Given the description of an element on the screen output the (x, y) to click on. 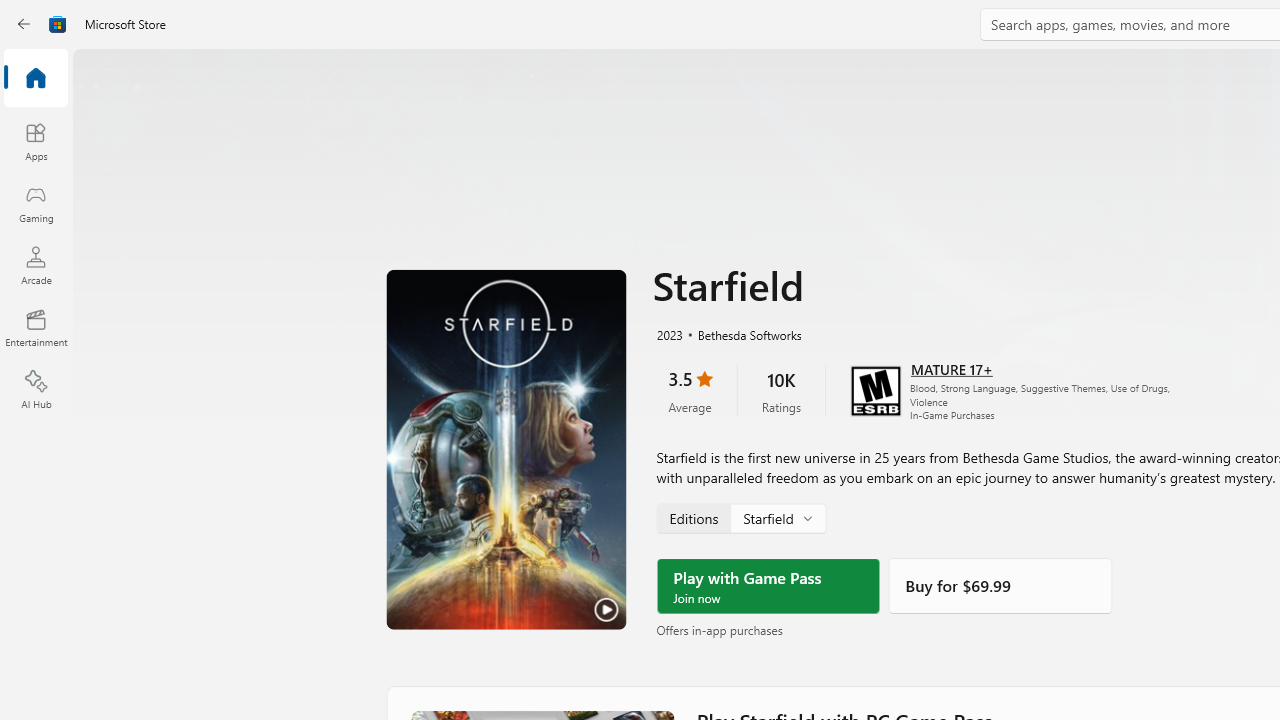
Home (35, 79)
Play Trailer (505, 449)
Buy (1000, 586)
2023 (667, 333)
Apps (35, 141)
Gaming (35, 203)
Play with Game Pass (767, 586)
Starfield, Edition selector (740, 517)
Entertainment (35, 327)
Bethesda Softworks (741, 333)
Class: Image (58, 24)
AI Hub (35, 390)
Arcade (35, 265)
Age rating: MATURE 17+. Click for more information. (951, 367)
Back (24, 24)
